Given the description of an element on the screen output the (x, y) to click on. 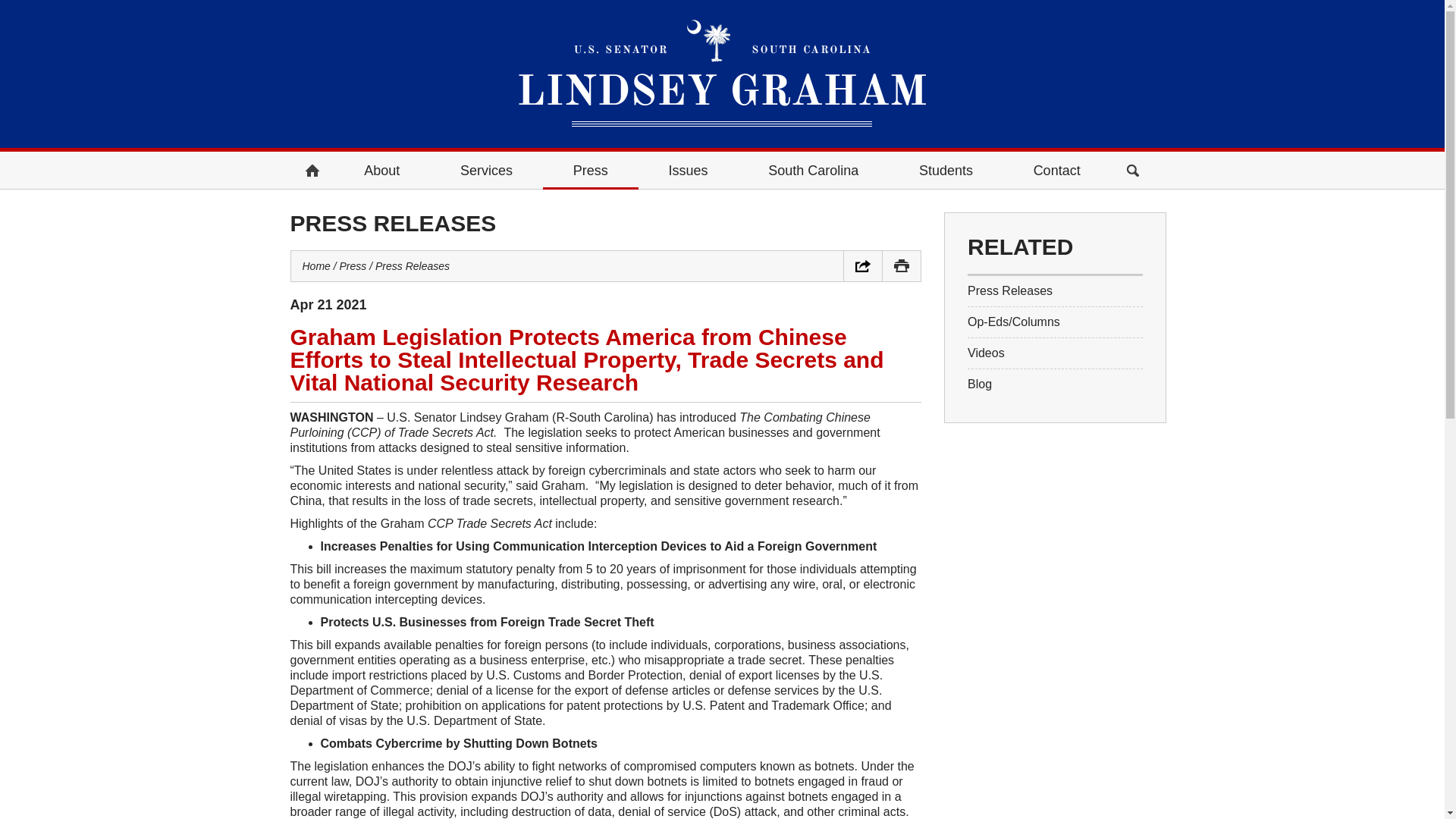
United States Senator Lindsey Graham (721, 73)
Home (311, 170)
Contact (1056, 170)
Services (486, 170)
About (381, 170)
Students (945, 170)
Issues (688, 170)
South Carolina (813, 170)
Press (591, 170)
